Given the description of an element on the screen output the (x, y) to click on. 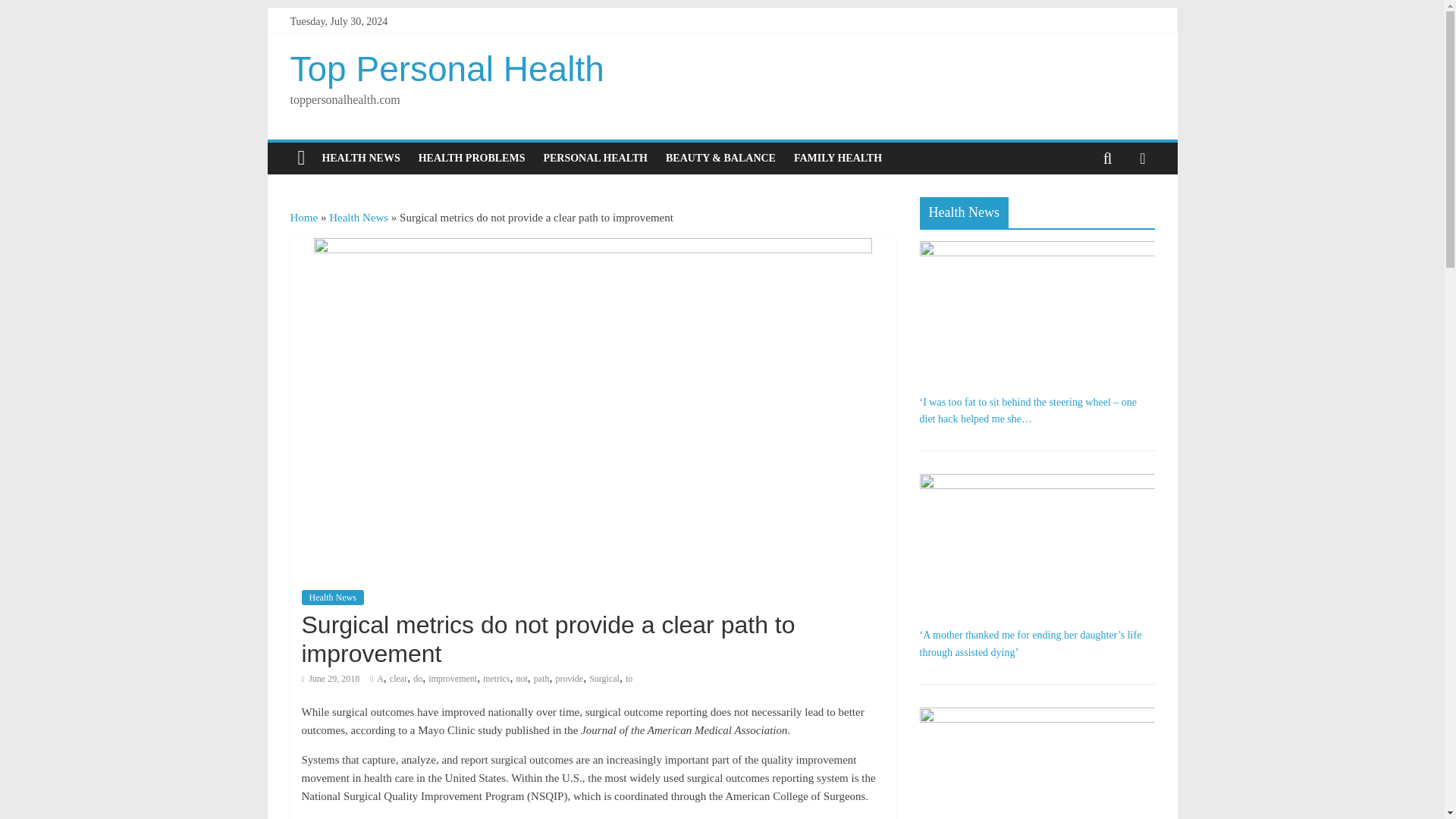
provide (568, 678)
FAMILY HEALTH (837, 158)
HEALTH NEWS (361, 158)
HEALTH PROBLEMS (471, 158)
Surgical (604, 678)
Top Personal Health (446, 68)
not (521, 678)
metrics (496, 678)
Home (303, 217)
improvement (452, 678)
path (542, 678)
PERSONAL HEALTH (595, 158)
1:12 pm (330, 678)
June 29, 2018 (330, 678)
Health News (358, 217)
